Given the description of an element on the screen output the (x, y) to click on. 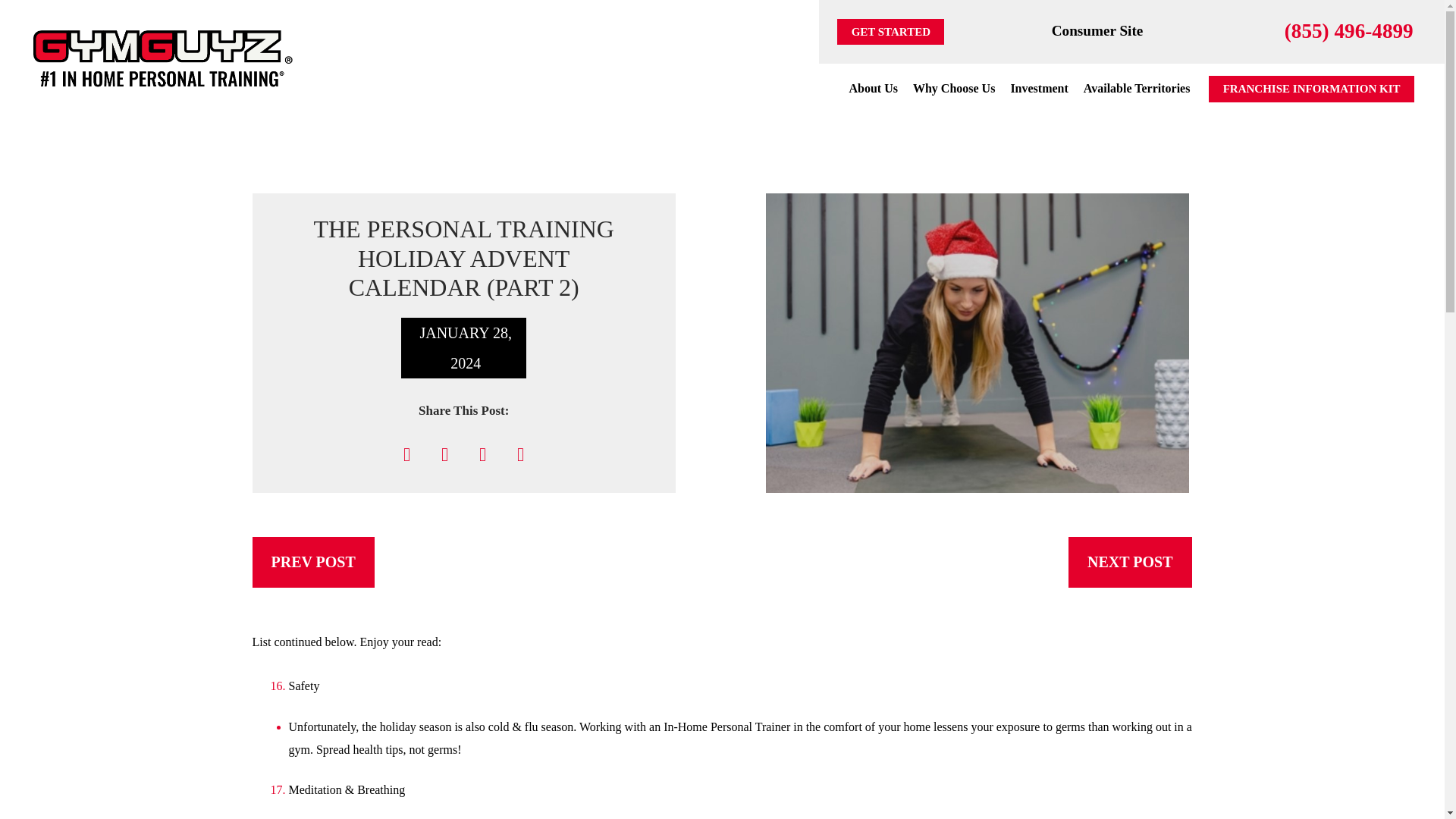
Available Territories (1136, 88)
Investment (1039, 88)
Why Choose Us (954, 88)
Consumer Site (1096, 30)
About Us (872, 88)
GET STARTED (890, 31)
FRANCHISE INFORMATION KIT (1310, 89)
